Given the description of an element on the screen output the (x, y) to click on. 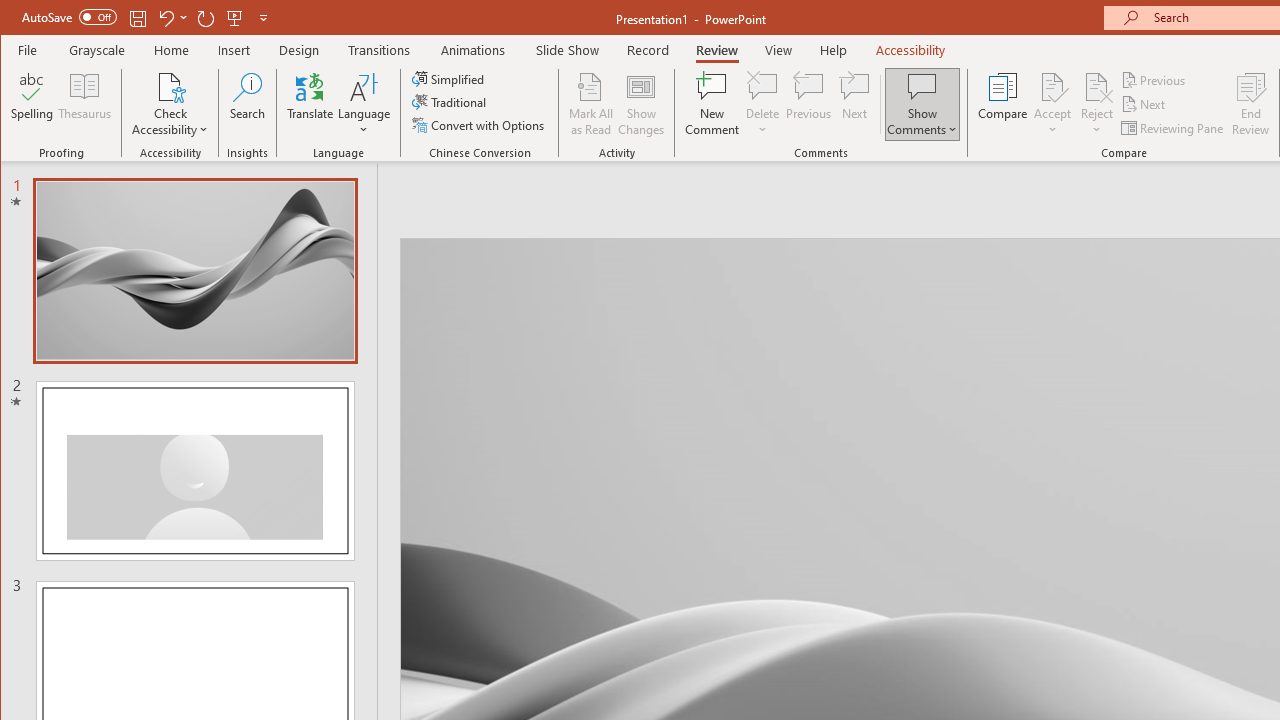
System (18, 18)
Mark All as Read (591, 104)
Show Changes (640, 104)
Translate (310, 104)
Next (1144, 103)
End Review (1251, 104)
From Beginning (235, 17)
Check Accessibility (170, 104)
Previous (1154, 80)
Grayscale (97, 50)
Animations (473, 50)
Slide Show (567, 50)
Reviewing Pane (1173, 127)
Search (247, 104)
